Given the description of an element on the screen output the (x, y) to click on. 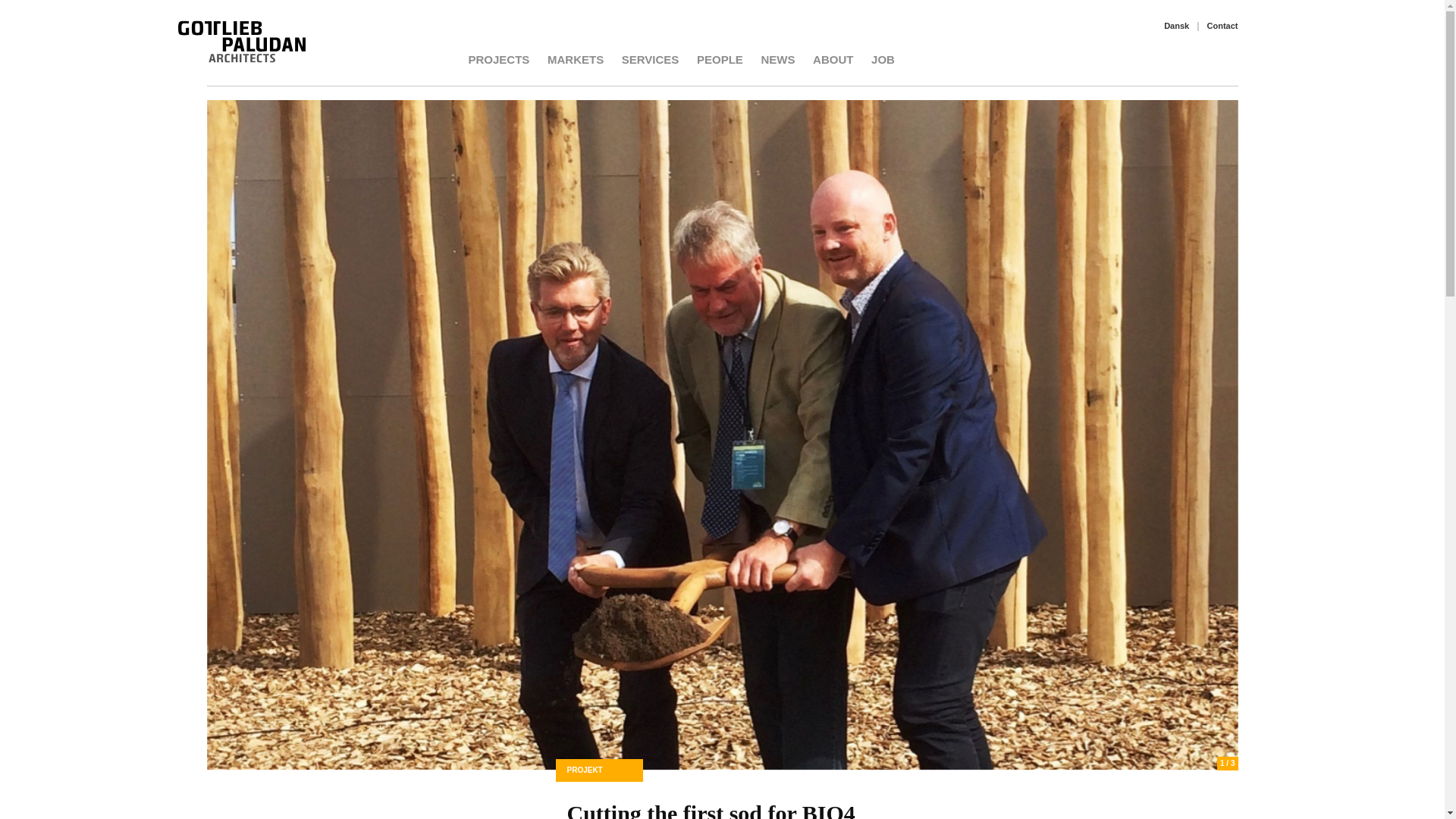
NEWS (777, 59)
Contact (1223, 25)
SERVICES (650, 59)
Dansk (1176, 25)
PROJECTS (498, 59)
HOME (223, 60)
ABOUT (832, 59)
PEOPLE (719, 59)
MARKETS (575, 59)
JOB (882, 59)
